Given the description of an element on the screen output the (x, y) to click on. 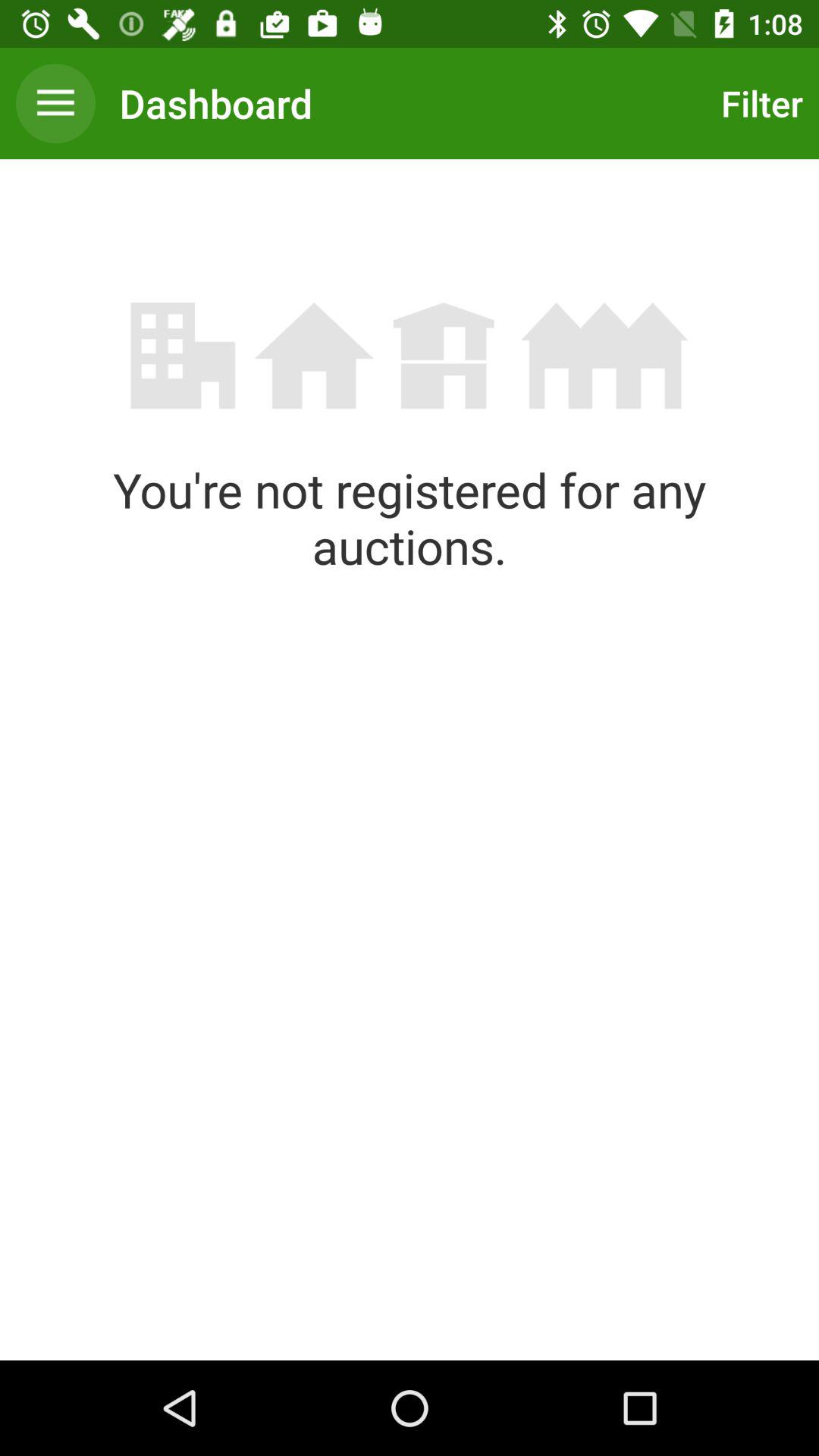
jump until filter (758, 103)
